Given the description of an element on the screen output the (x, y) to click on. 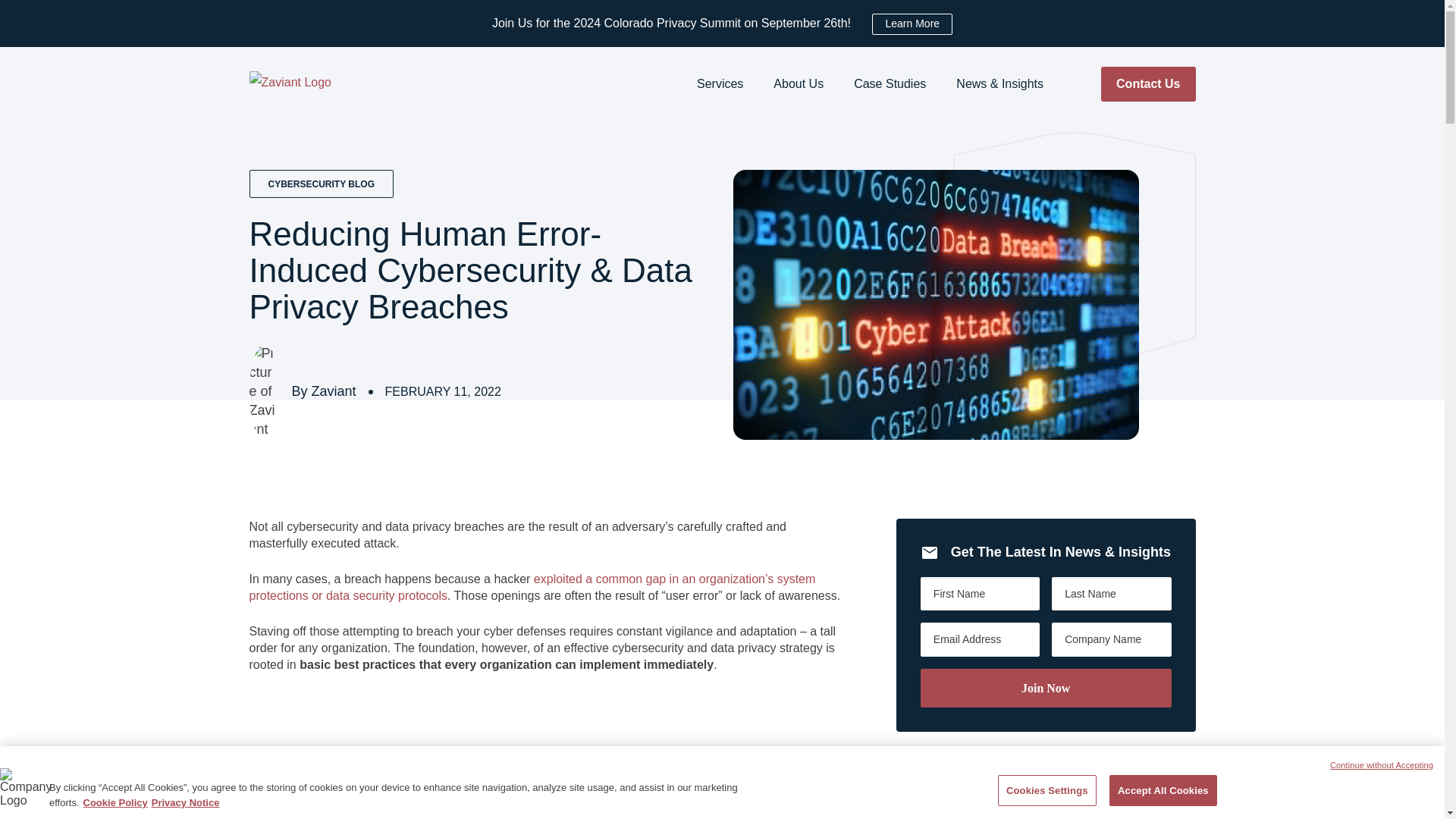
Services (719, 83)
Zaviant Logo (295, 83)
About Us (798, 83)
Company Logo (24, 792)
Learn More (912, 24)
Contact Us (1147, 83)
Case Studies (889, 83)
